Given the description of an element on the screen output the (x, y) to click on. 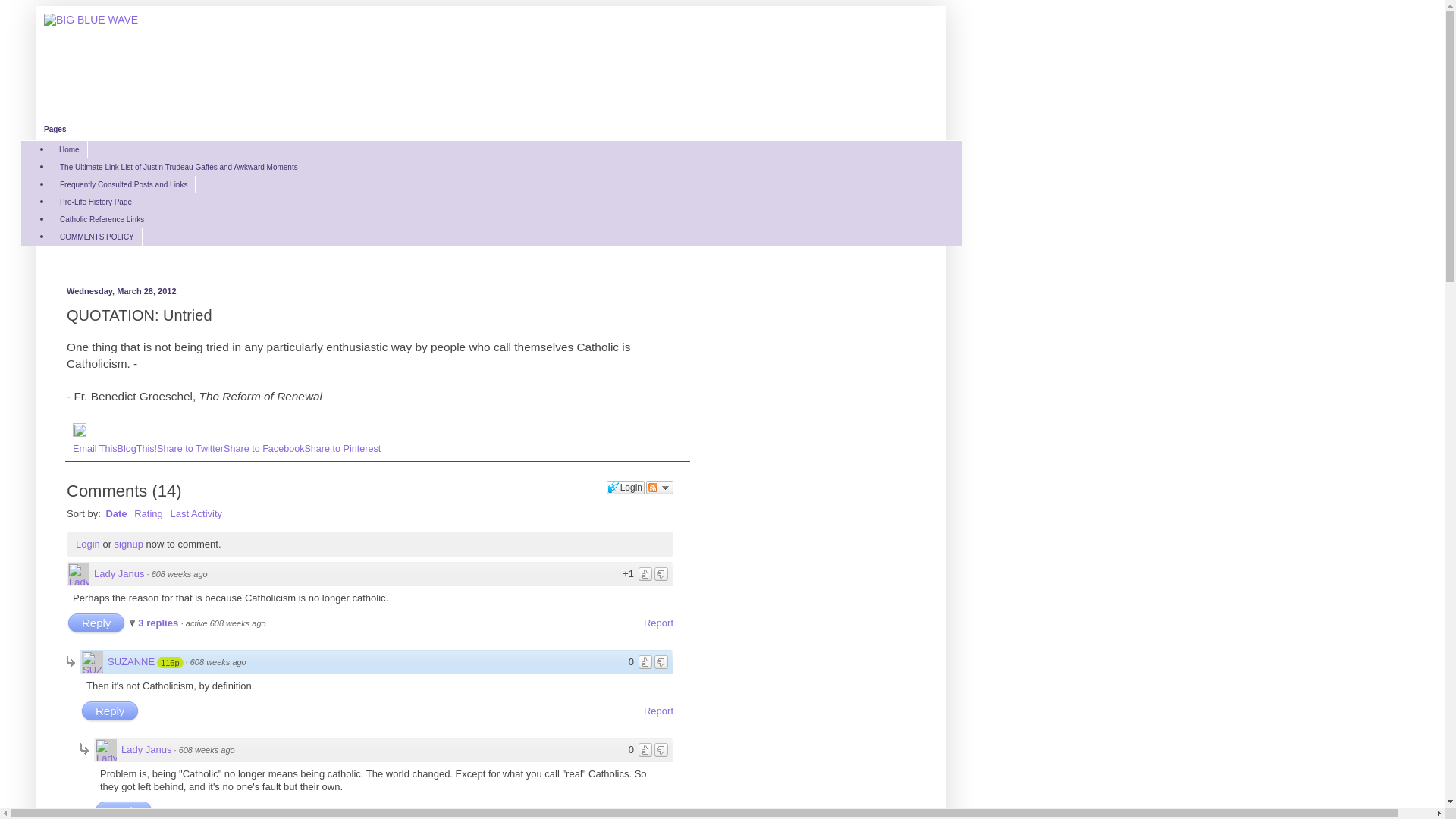
Date Element type: text (115, 513)
Follow the discussion Element type: text (659, 487)
Login Element type: text (625, 487)
signup Element type: text (128, 543)
SUZANNE Element type: text (130, 661)
Last Activity Element type: text (195, 513)
Pro-Life History Page Element type: text (95, 201)
Catholic Reference Links Element type: text (101, 219)
Report Element type: text (658, 710)
3 replies Element type: text (154, 622)
Frequently Consulted Posts and Links Element type: text (123, 184)
Home Element type: text (69, 149)
116p Element type: text (171, 662)
Report Element type: text (658, 622)
608 weeks ago Element type: text (218, 661)
Edit Post Element type: hover (79, 433)
Lady Janus Element type: text (146, 749)
608 weeks ago Element type: text (206, 749)
Lady Janus Element type: text (119, 573)
Login Element type: text (87, 543)
Rating Element type: text (148, 513)
608 weeks ago Element type: text (179, 573)
COMMENTS POLICY Element type: text (96, 236)
Email This Element type: text (94, 448)
Share to Pinterest Element type: text (342, 448)
Share to Twitter Element type: text (189, 448)
Share to Facebook Element type: text (263, 448)
BlogThis! Element type: text (137, 448)
